Given the description of an element on the screen output the (x, y) to click on. 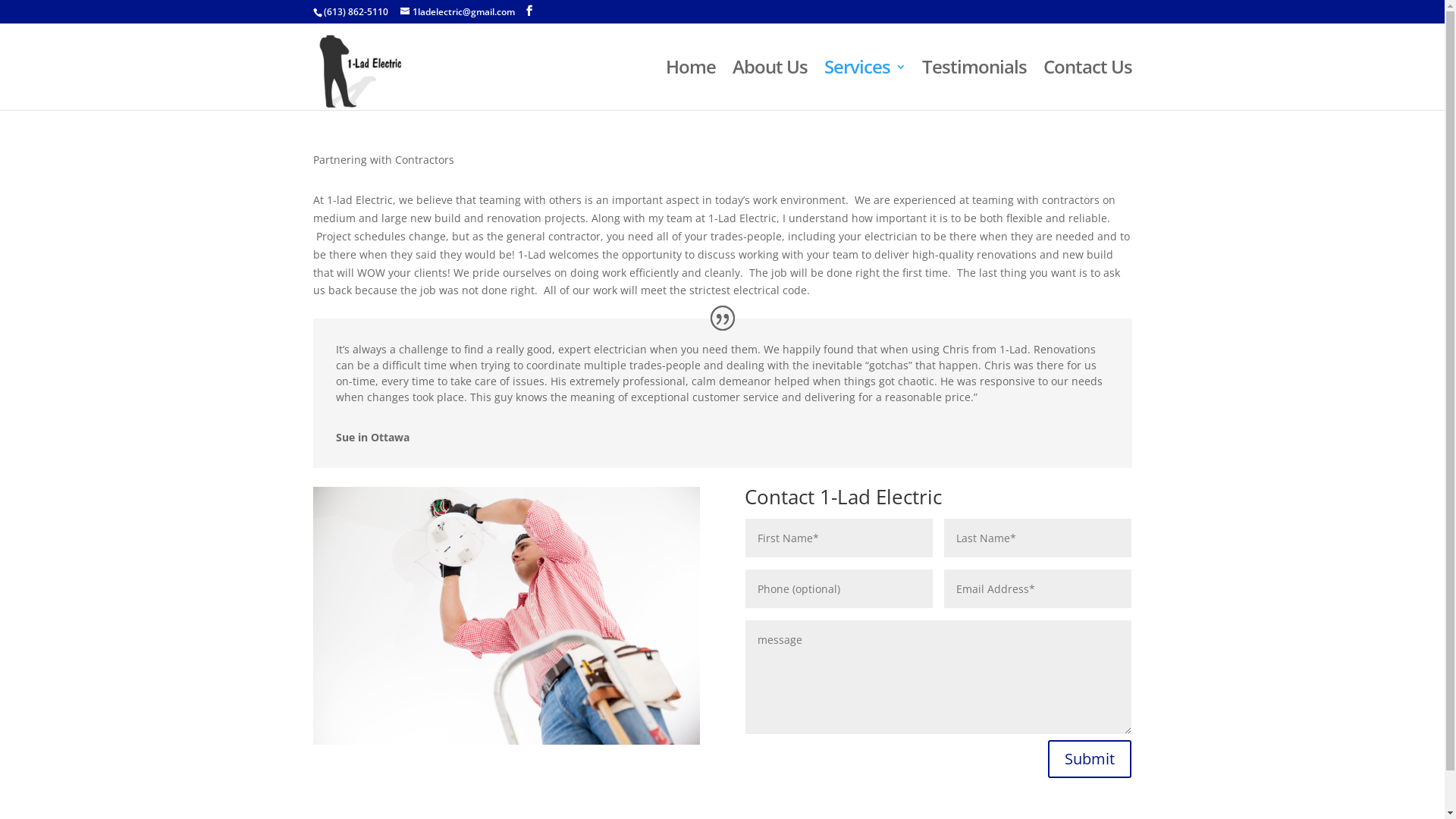
Submit Element type: text (1089, 759)
Contact Us Element type: text (1087, 85)
Testimonials Element type: text (974, 85)
1ladelectric@gmail.com Element type: text (457, 11)
Home Element type: text (690, 85)
Services Element type: text (863, 85)
About Us Element type: text (769, 85)
